Given the description of an element on the screen output the (x, y) to click on. 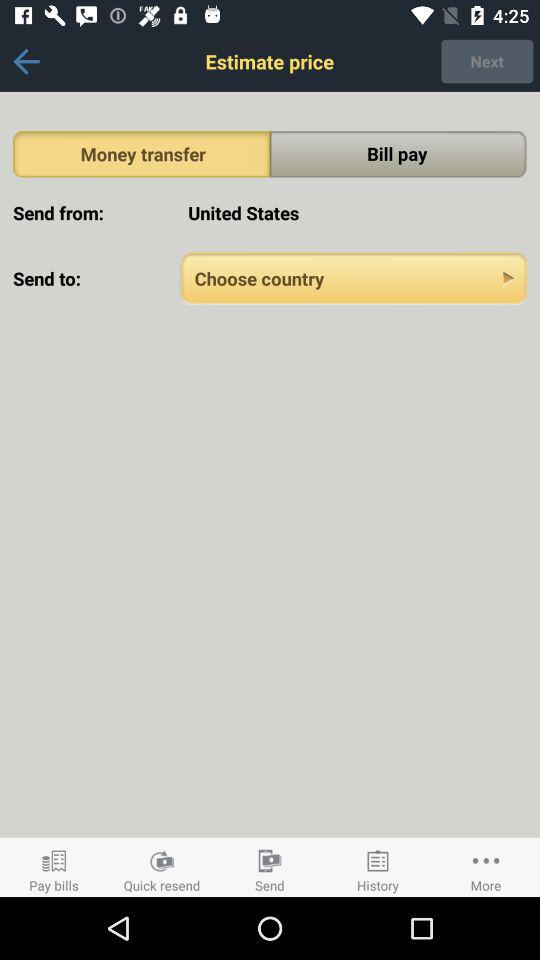
choose the item below the money transfer (353, 212)
